Given the description of an element on the screen output the (x, y) to click on. 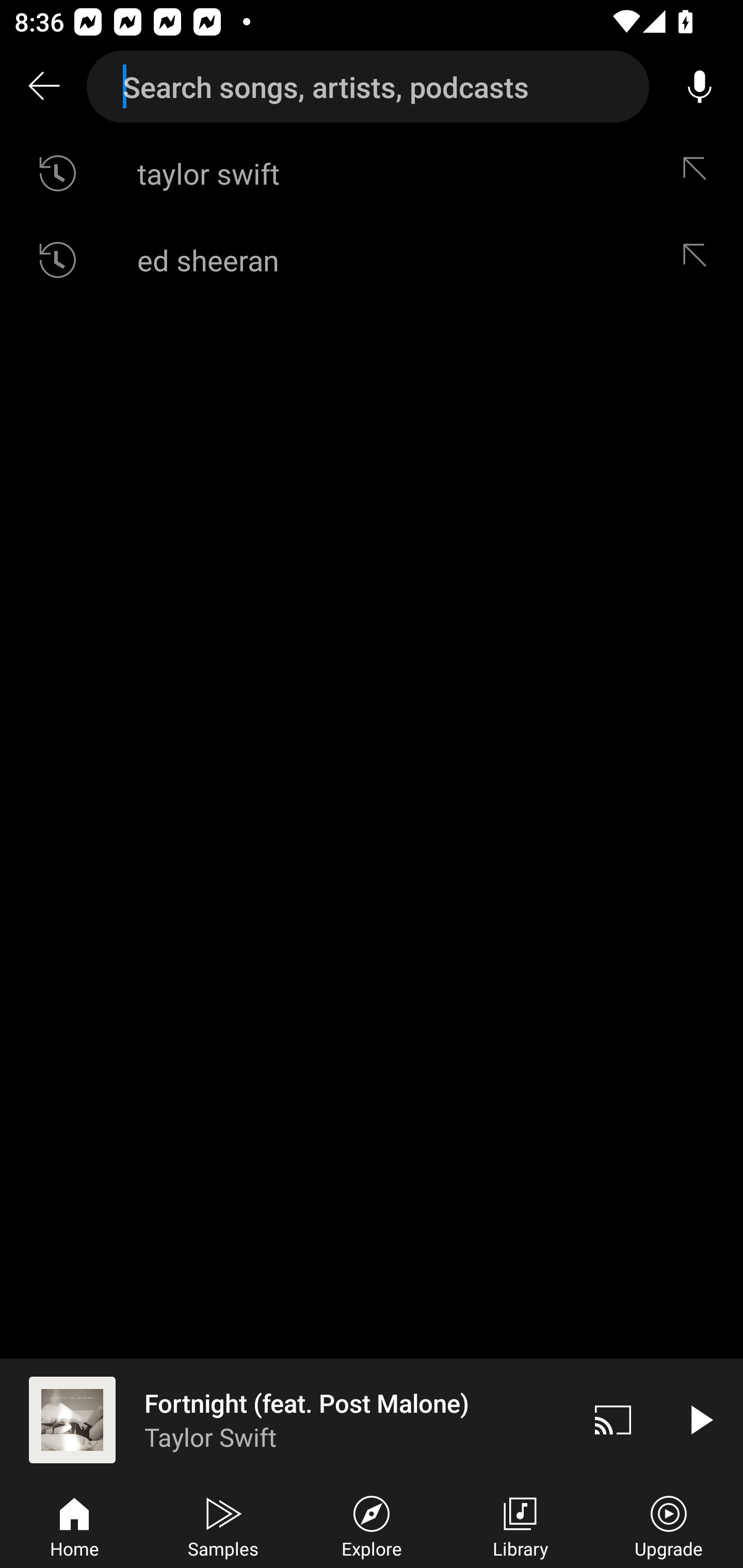
Search back (43, 86)
Search songs, artists, podcasts (367, 86)
Voice search (699, 86)
taylor swift Edit suggestion taylor swift (371, 173)
Edit suggestion taylor swift (699, 173)
ed sheeran Edit suggestion ed sheeran (371, 259)
Edit suggestion ed sheeran (699, 259)
Fortnight (feat. Post Malone) Taylor Swift (284, 1419)
Cast. Disconnected (612, 1419)
Play video (699, 1419)
Home (74, 1524)
Samples (222, 1524)
Explore (371, 1524)
Library (519, 1524)
Upgrade (668, 1524)
